Given the description of an element on the screen output the (x, y) to click on. 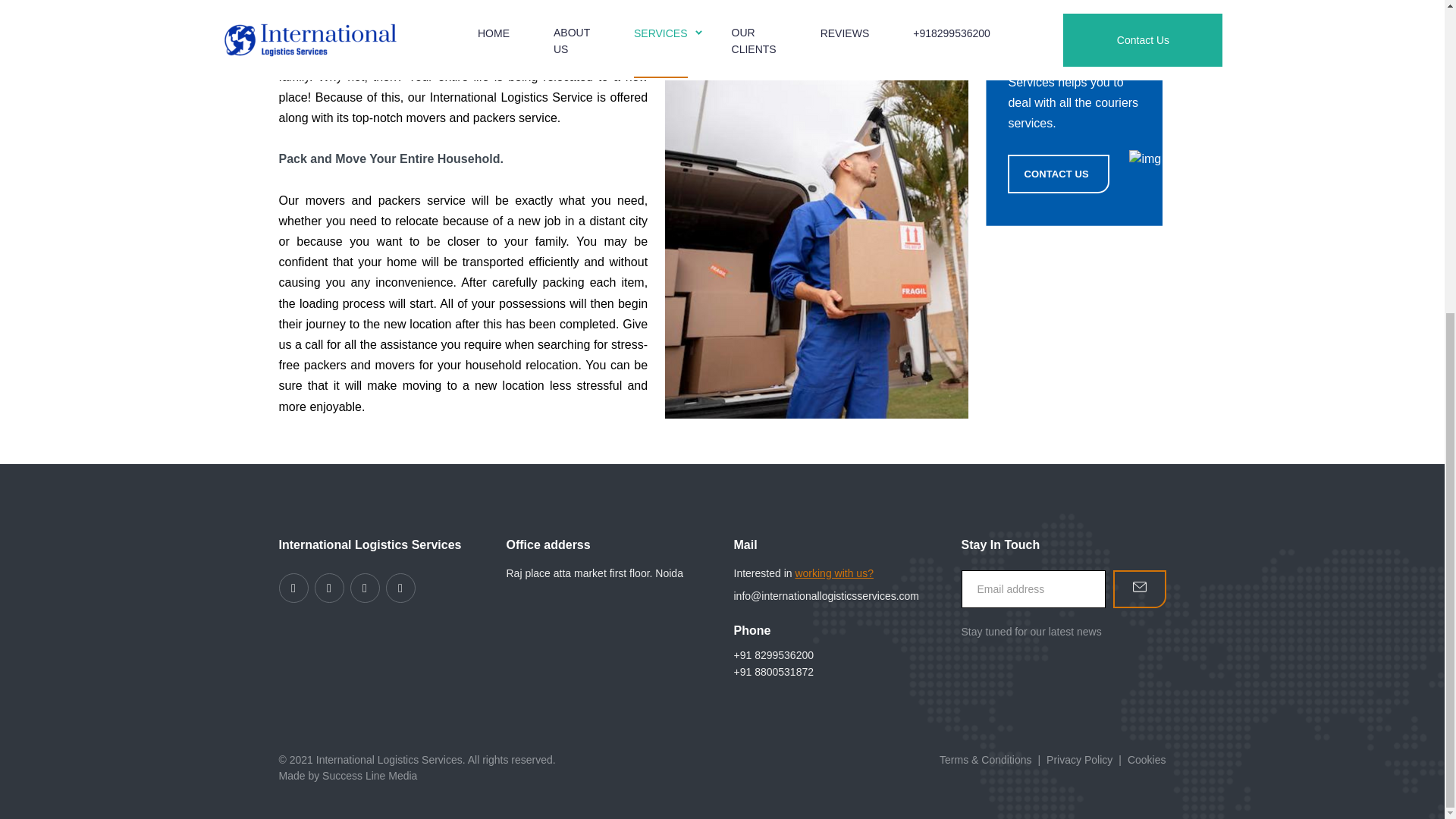
Cookies (1146, 759)
working with us? (833, 573)
Success Line Media (368, 775)
Privacy Policy (1079, 759)
CONTACT US (1057, 173)
